Given the description of an element on the screen output the (x, y) to click on. 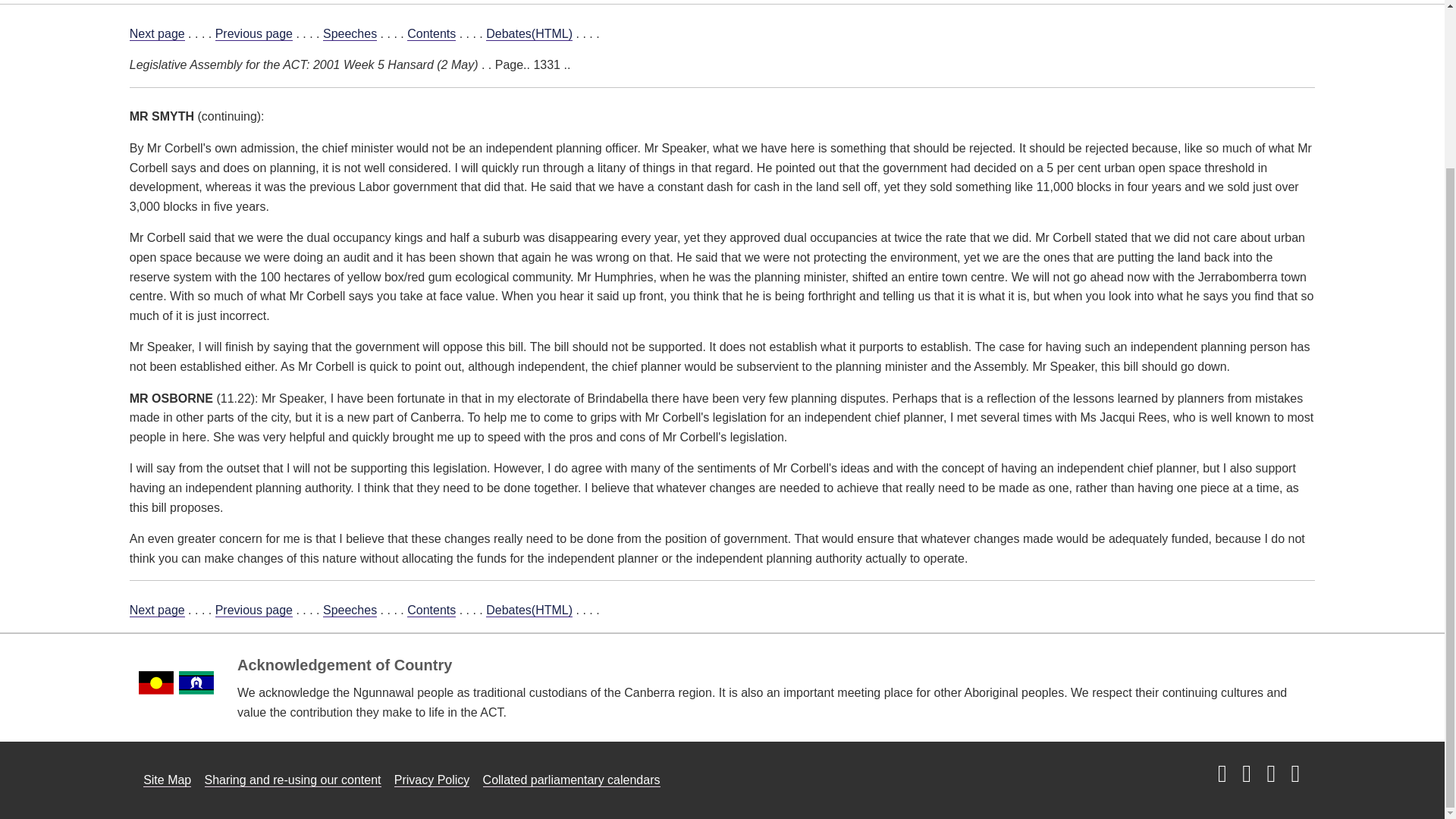
Link to Privacy Policy (432, 780)
Collated parliamentary calendars (572, 780)
Link to Sharing and re-using our content (293, 780)
Speeches (350, 33)
Previous page (253, 33)
Speeches (350, 610)
Contents (431, 33)
Next page (156, 610)
Sharing and re-using our content (293, 780)
Collated parliamentary calendars (572, 780)
